Given the description of an element on the screen output the (x, y) to click on. 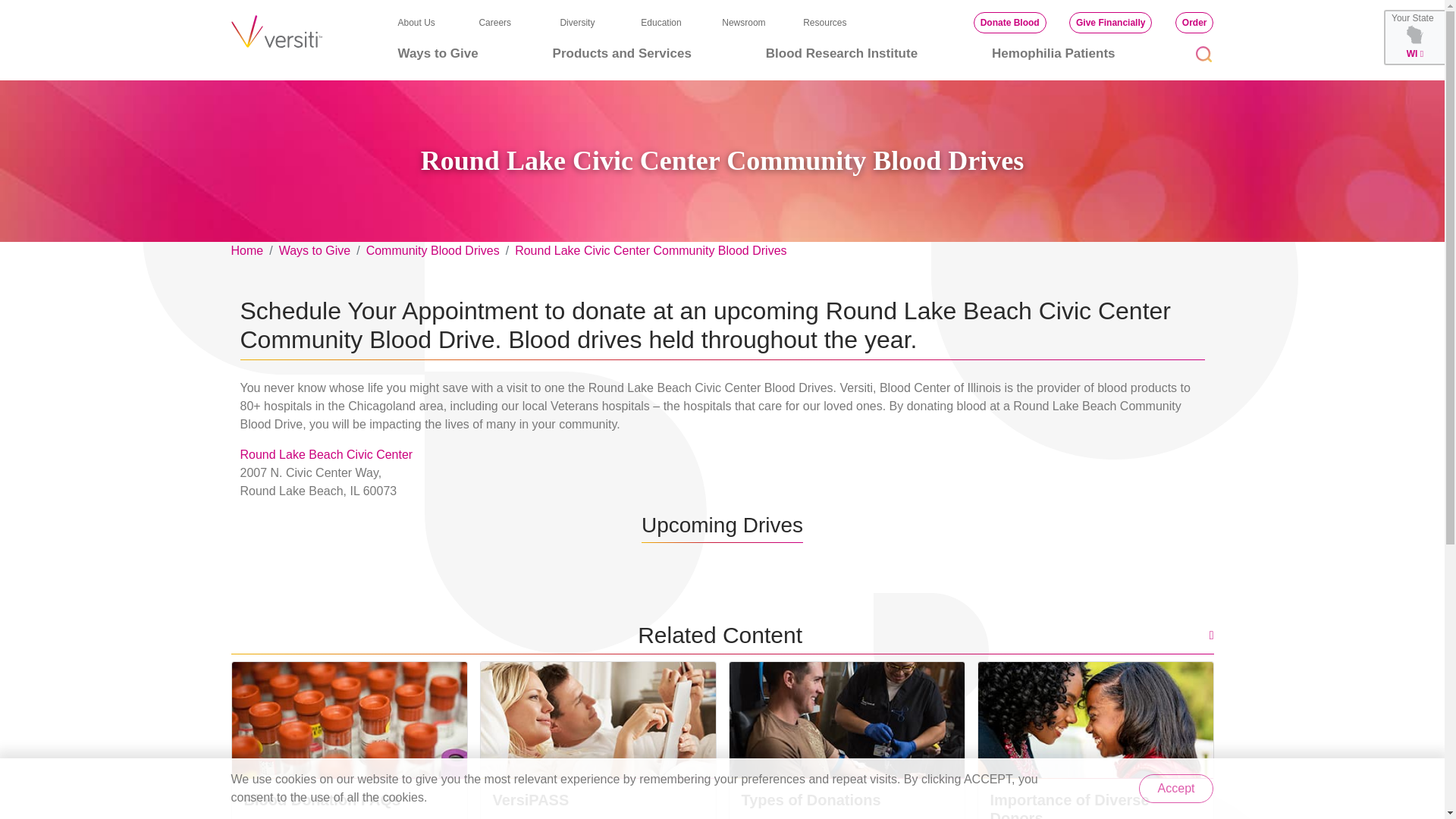
Blood Donation FAQs (349, 719)
Careers (495, 22)
Diversity (576, 22)
Importance of Diverse Donors (1095, 719)
Give Financially (1109, 22)
Newsroom (743, 22)
Donate Blood (1010, 22)
Types of Donations (846, 719)
VersiPASS (598, 719)
Order (1194, 22)
Education (660, 22)
Resources (824, 22)
Ways to Give (437, 52)
About Us (415, 22)
